Given the description of an element on the screen output the (x, y) to click on. 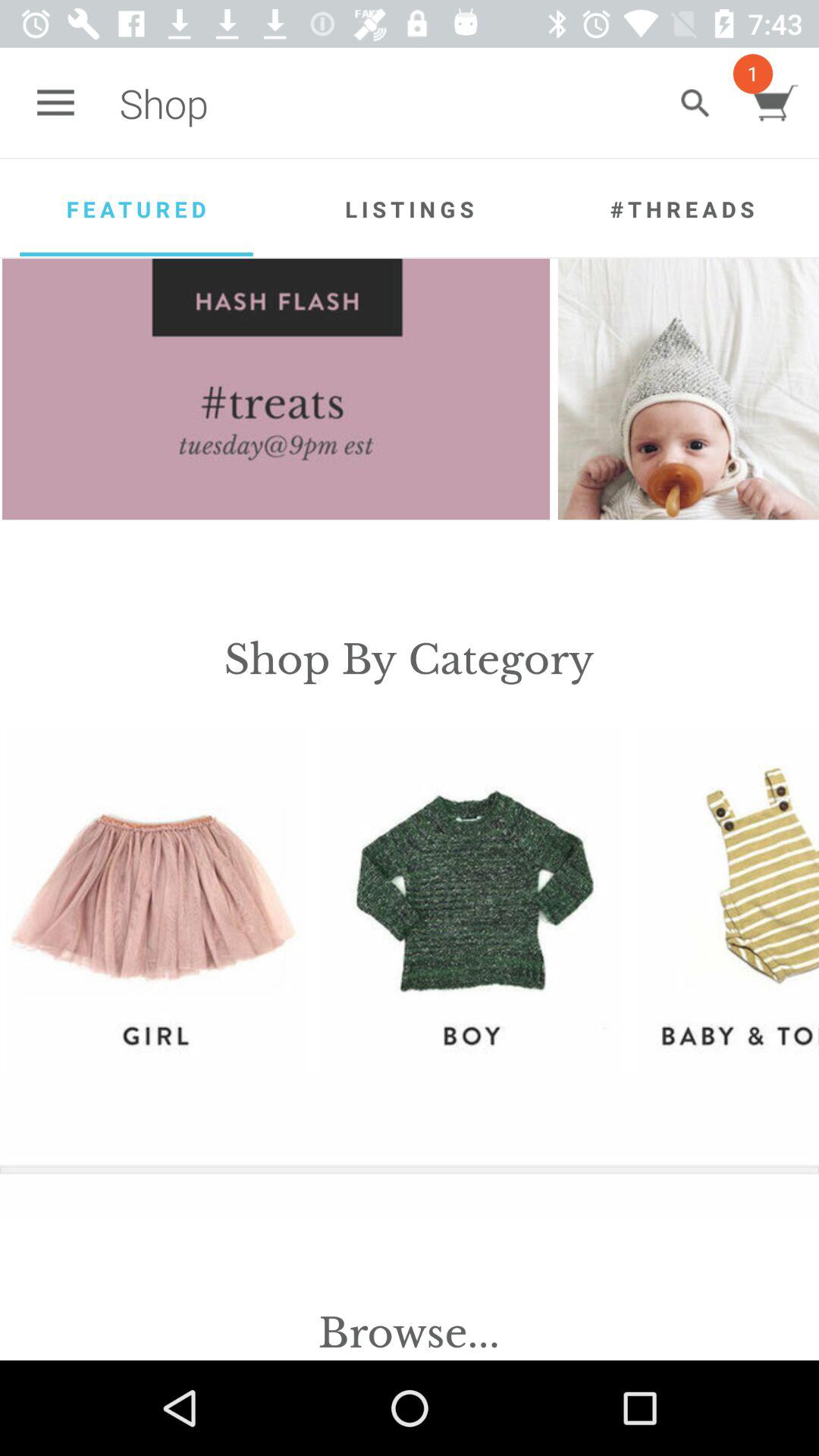
open icon above the shop by category (688, 388)
